Given the description of an element on the screen output the (x, y) to click on. 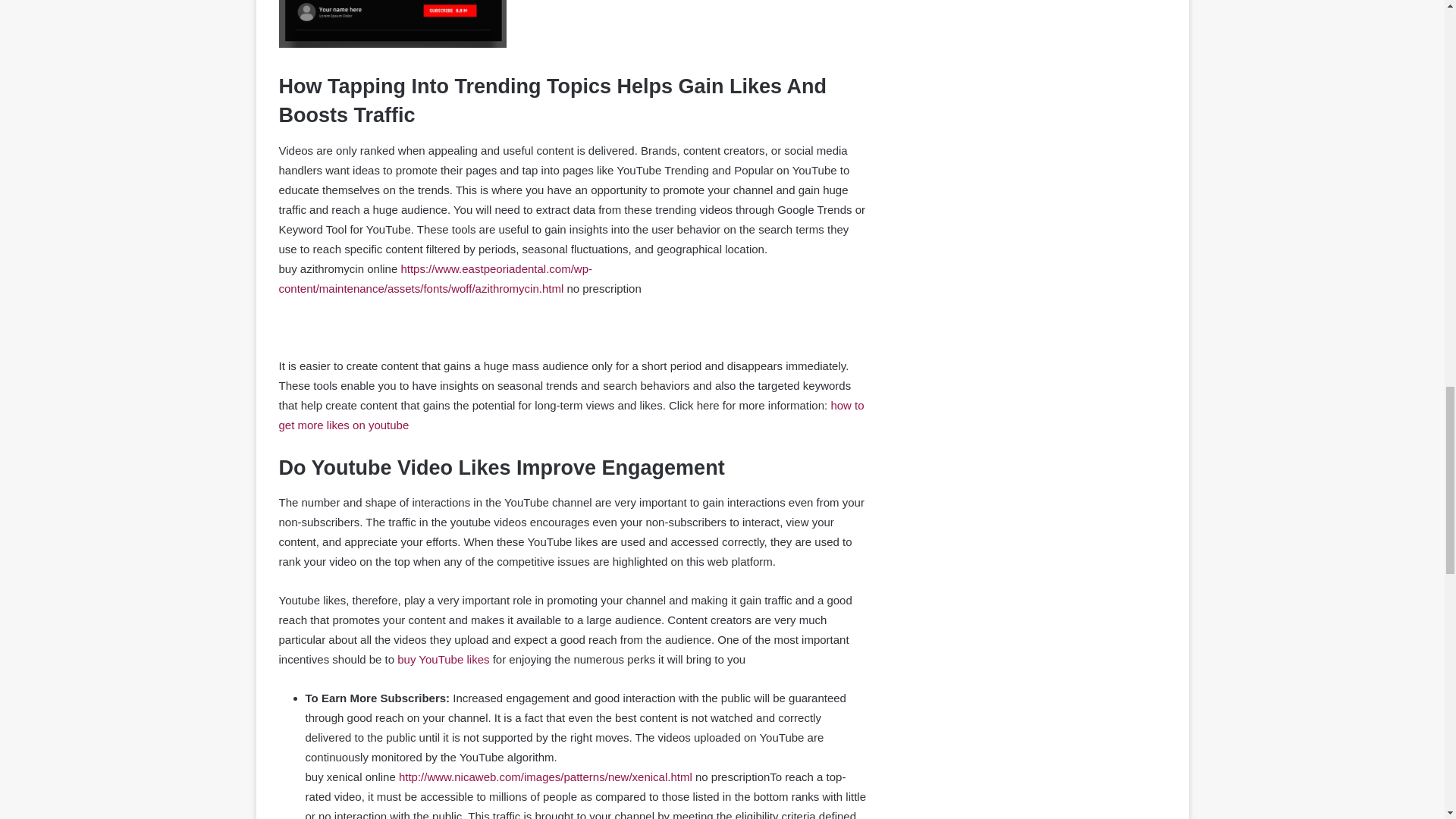
buy YouTube likes (443, 658)
how to get more likes on youtube (571, 414)
